Given the description of an element on the screen output the (x, y) to click on. 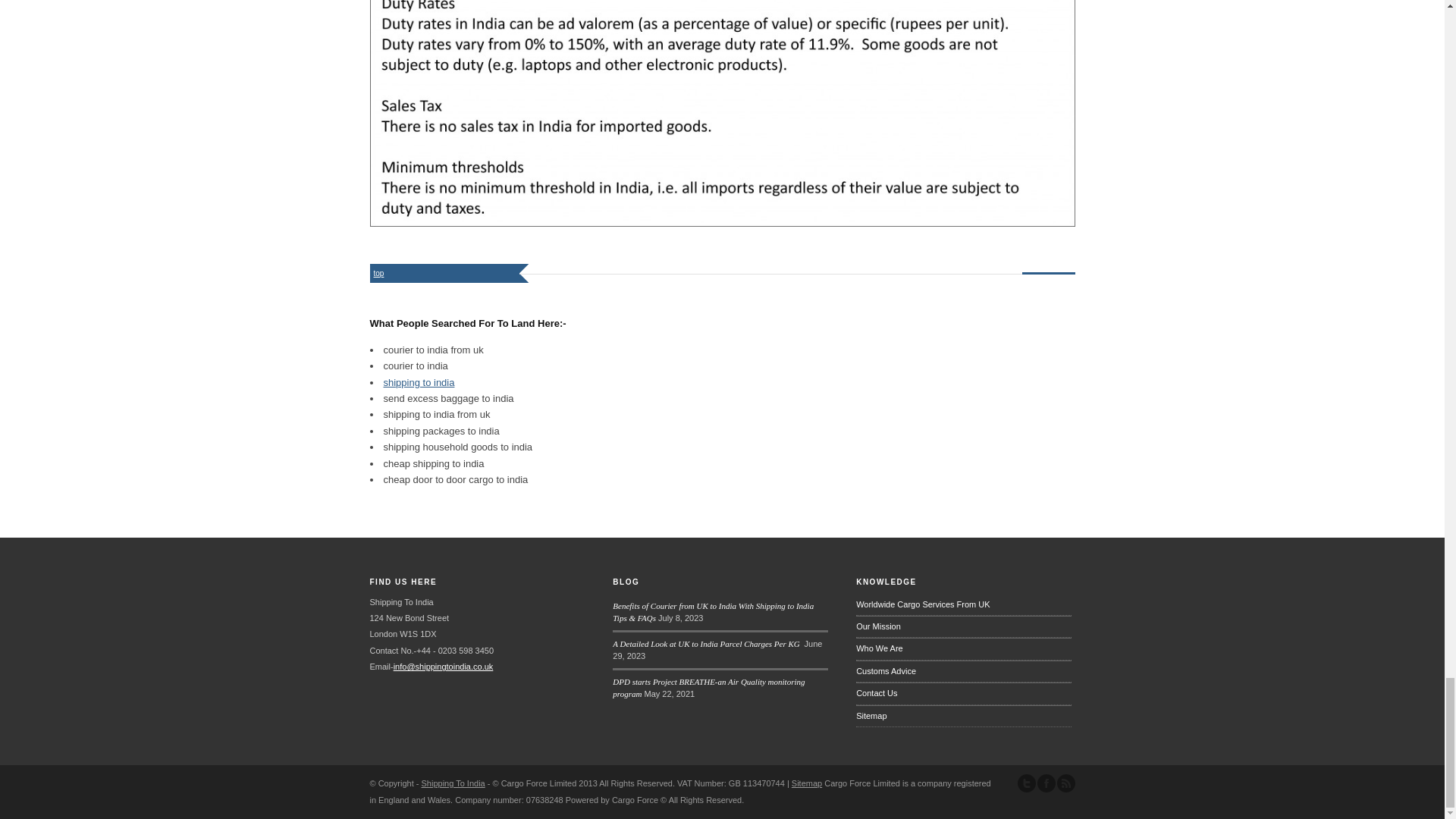
A Detailed Look at UK to India Parcel Charges Per KG  (707, 643)
top (379, 273)
DPD starts Project BREATHE-an Air Quality monitoring program (708, 688)
Join our Facebook Group (1045, 782)
Worldwide Cargo Services From UK (963, 604)
Customs Advice (963, 671)
Contact Us (963, 693)
Follow us on Twitter (1026, 782)
Sitemap (807, 782)
Sitemap (963, 716)
